Given the description of an element on the screen output the (x, y) to click on. 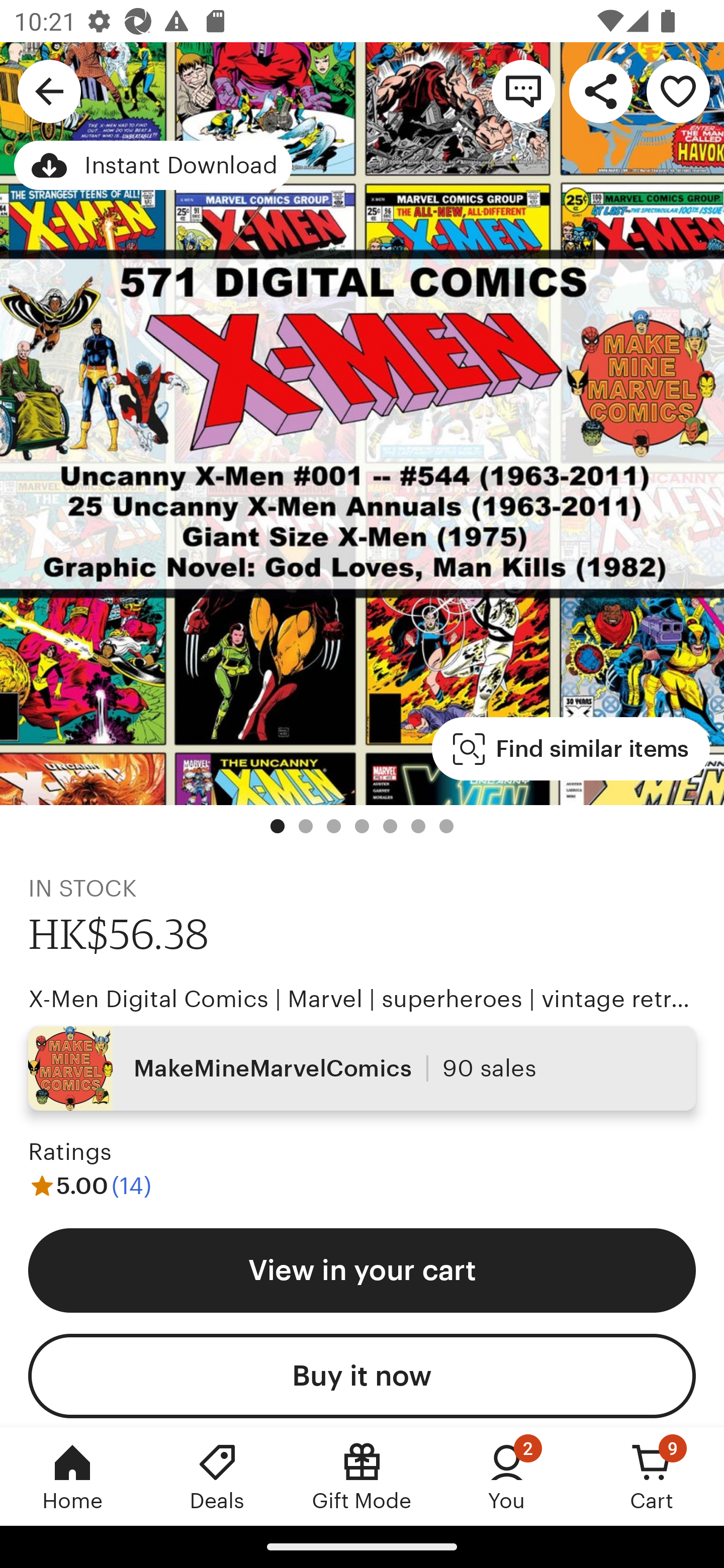
Navigate up (49, 90)
Contact shop (523, 90)
Share (600, 90)
Find similar items (571, 748)
MakeMineMarvelComics 90 sales (361, 1067)
Ratings (70, 1151)
5.00 (14) (89, 1185)
View in your cart (361, 1269)
Buy it now (361, 1375)
Deals (216, 1475)
Gift Mode (361, 1475)
You, 2 new notifications You (506, 1475)
Cart, 9 new notifications Cart (651, 1475)
